Given the description of an element on the screen output the (x, y) to click on. 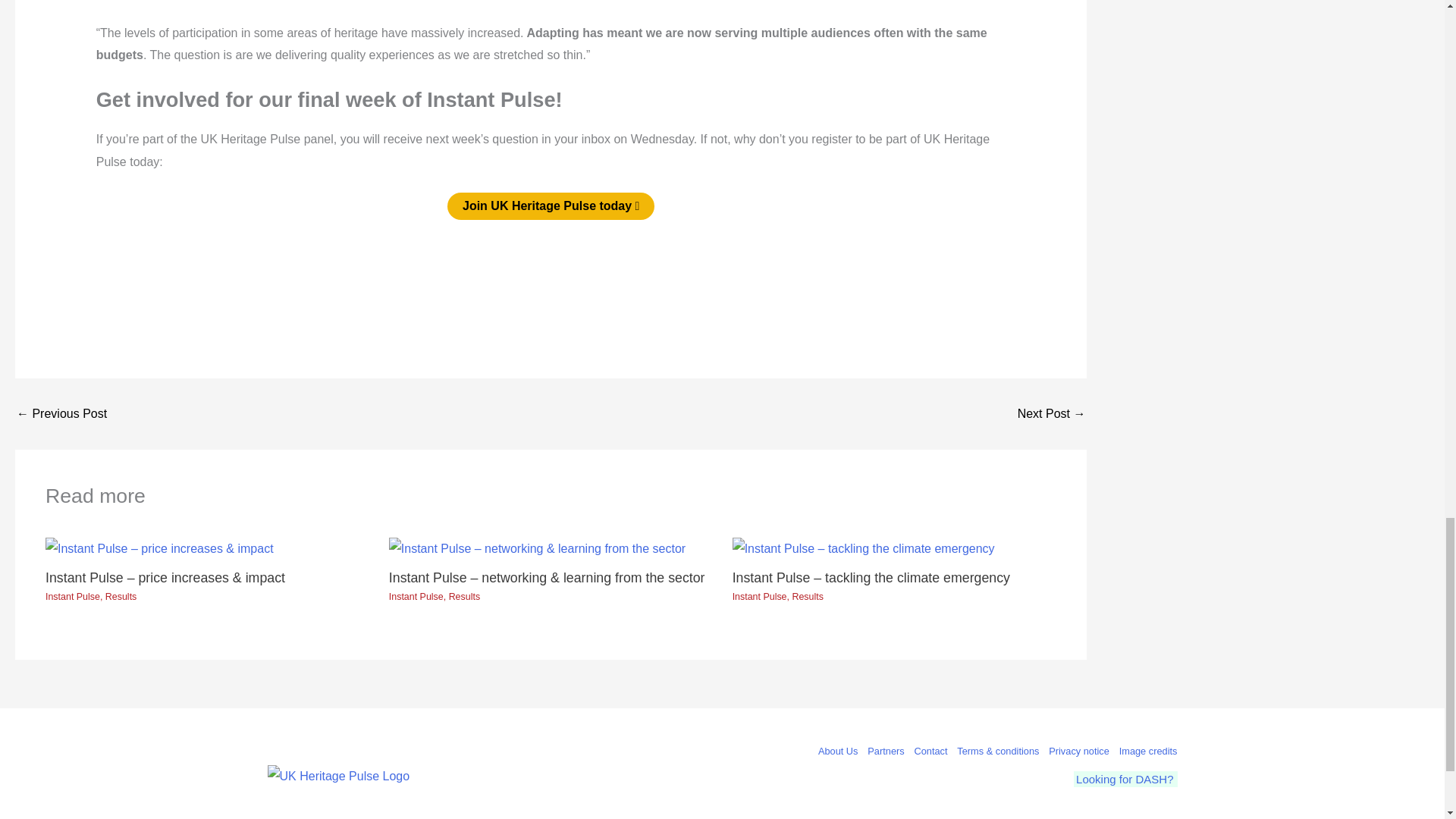
Instant Pulse (759, 596)
Results (464, 596)
Instant Pulse (416, 596)
Instant Pulse (72, 596)
Results (807, 596)
Findings from round 2 of UK Heritage Pulse published (1051, 413)
Results (120, 596)
